Given the description of an element on the screen output the (x, y) to click on. 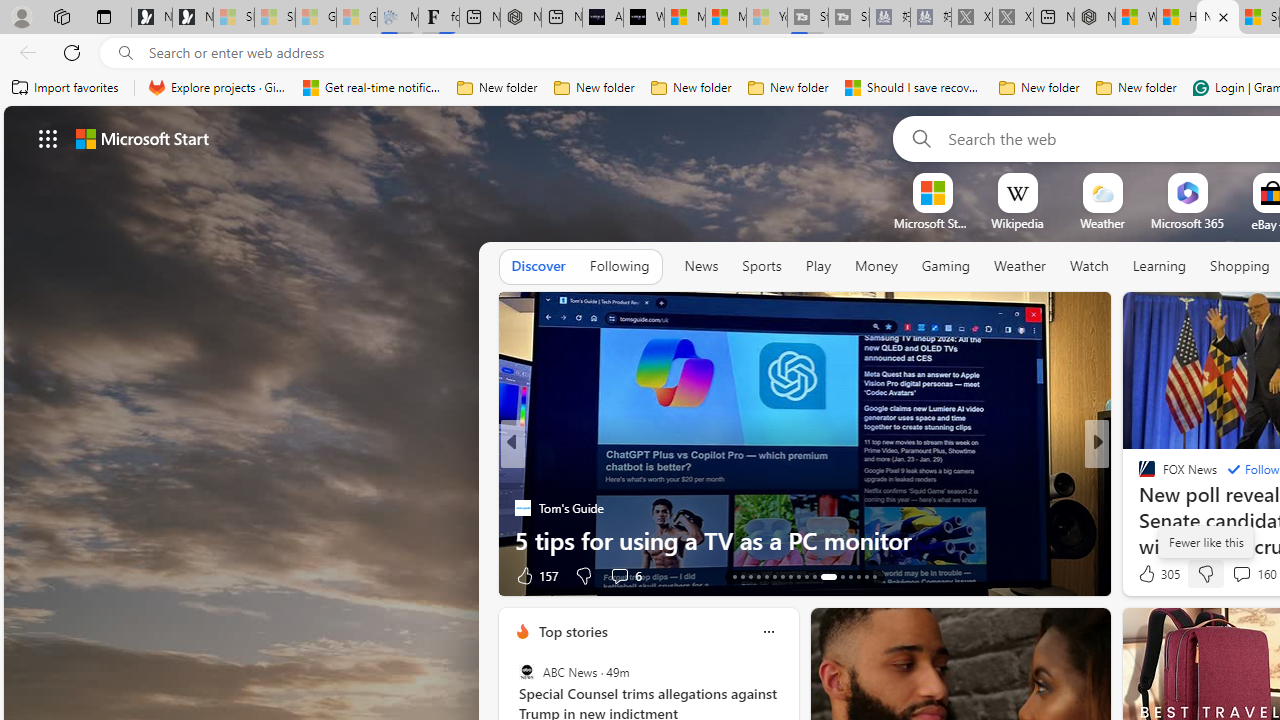
Search (917, 138)
Tab actions menu (104, 16)
Ad (1142, 575)
Newsweek (1138, 475)
Learning (1159, 265)
Ad Choice (479, 575)
AutomationID: tab-18 (774, 576)
Discover (538, 265)
Start the conversation (1235, 574)
AutomationID: tab-22 (806, 576)
AutomationID: tab-21 (797, 576)
Sports (761, 265)
Watch (1089, 267)
View comments 61 Comment (11, 575)
View comments 1k Comment (1228, 575)
